Given the description of an element on the screen output the (x, y) to click on. 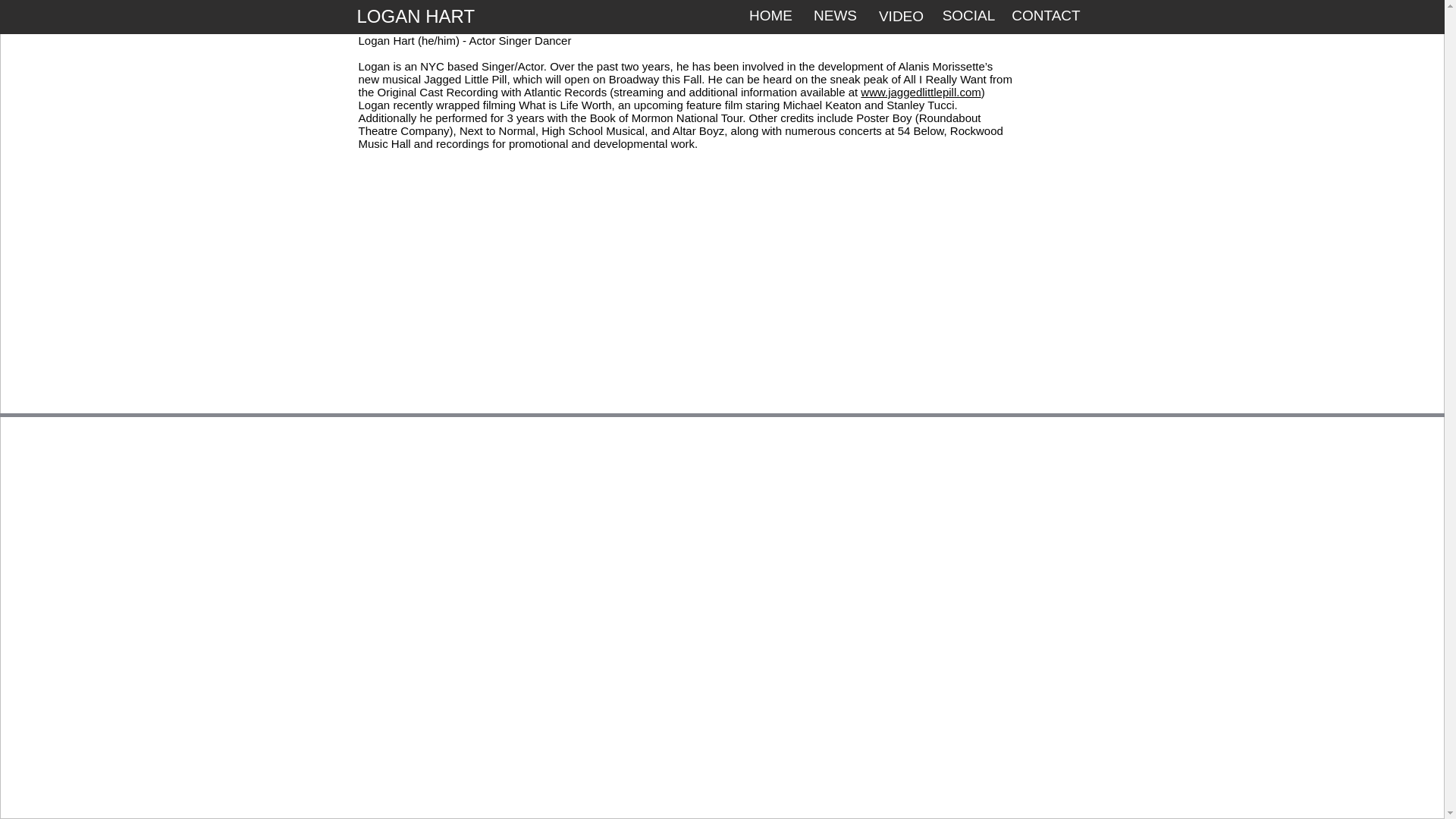
SOCIAL (968, 16)
CONTACT (1045, 16)
VIDEO (901, 16)
www.jaggedlittlepill.com (919, 91)
HOME (771, 16)
NEWS (834, 16)
